Given the description of an element on the screen output the (x, y) to click on. 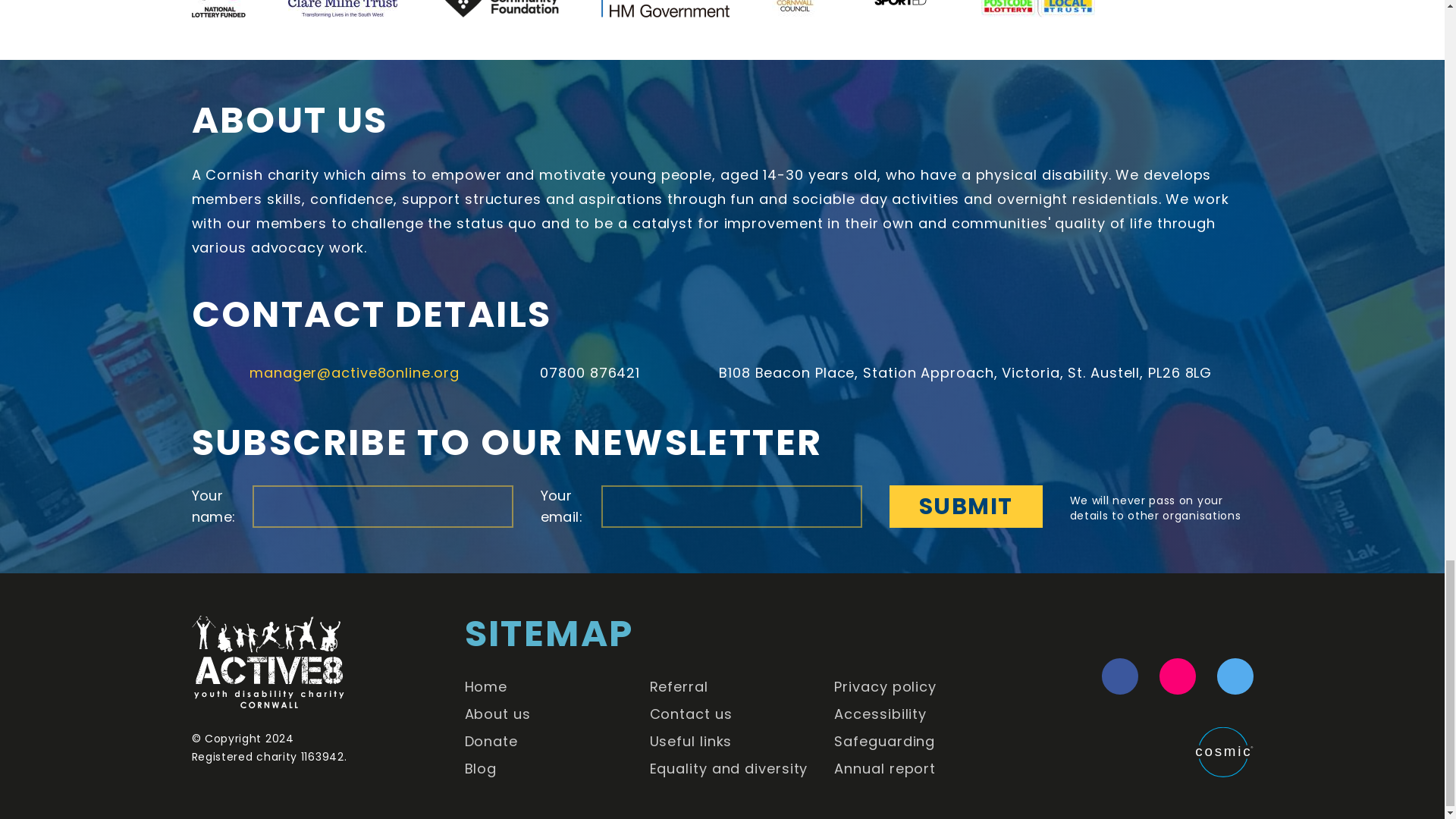
Equality and diversity (728, 768)
About us (497, 713)
Contact us (690, 713)
Useful links (690, 741)
Submit (965, 506)
Home (486, 686)
Submit (965, 506)
Blog (480, 768)
Privacy policy (885, 686)
Donate (491, 741)
